Given the description of an element on the screen output the (x, y) to click on. 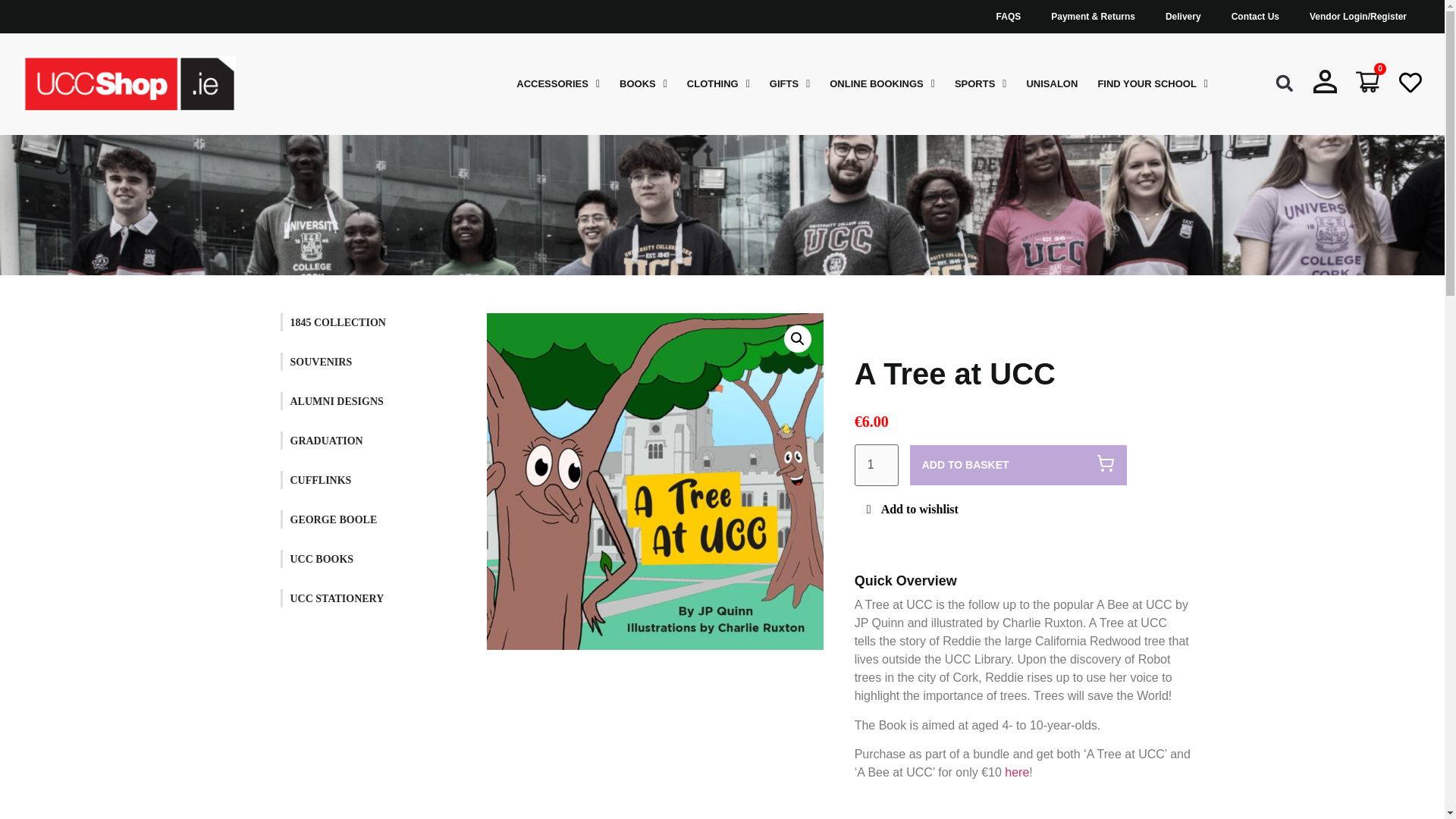
Delivery (1182, 16)
1 (876, 465)
BOOKS (643, 84)
Contact Us (1254, 16)
ACCESSORIES (558, 84)
A Tree at UCC (655, 481)
FAQS (1008, 16)
